Given the description of an element on the screen output the (x, y) to click on. 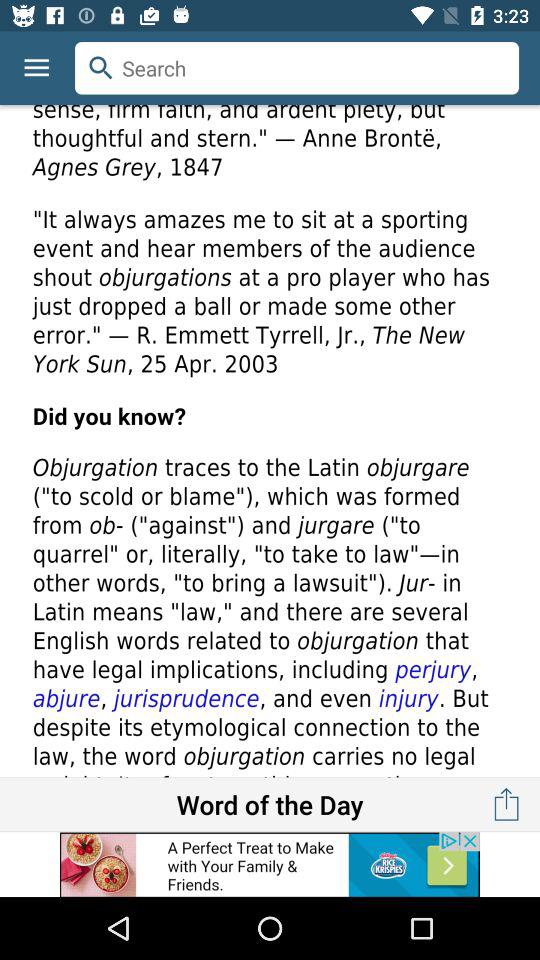
search bar (297, 68)
